Given the description of an element on the screen output the (x, y) to click on. 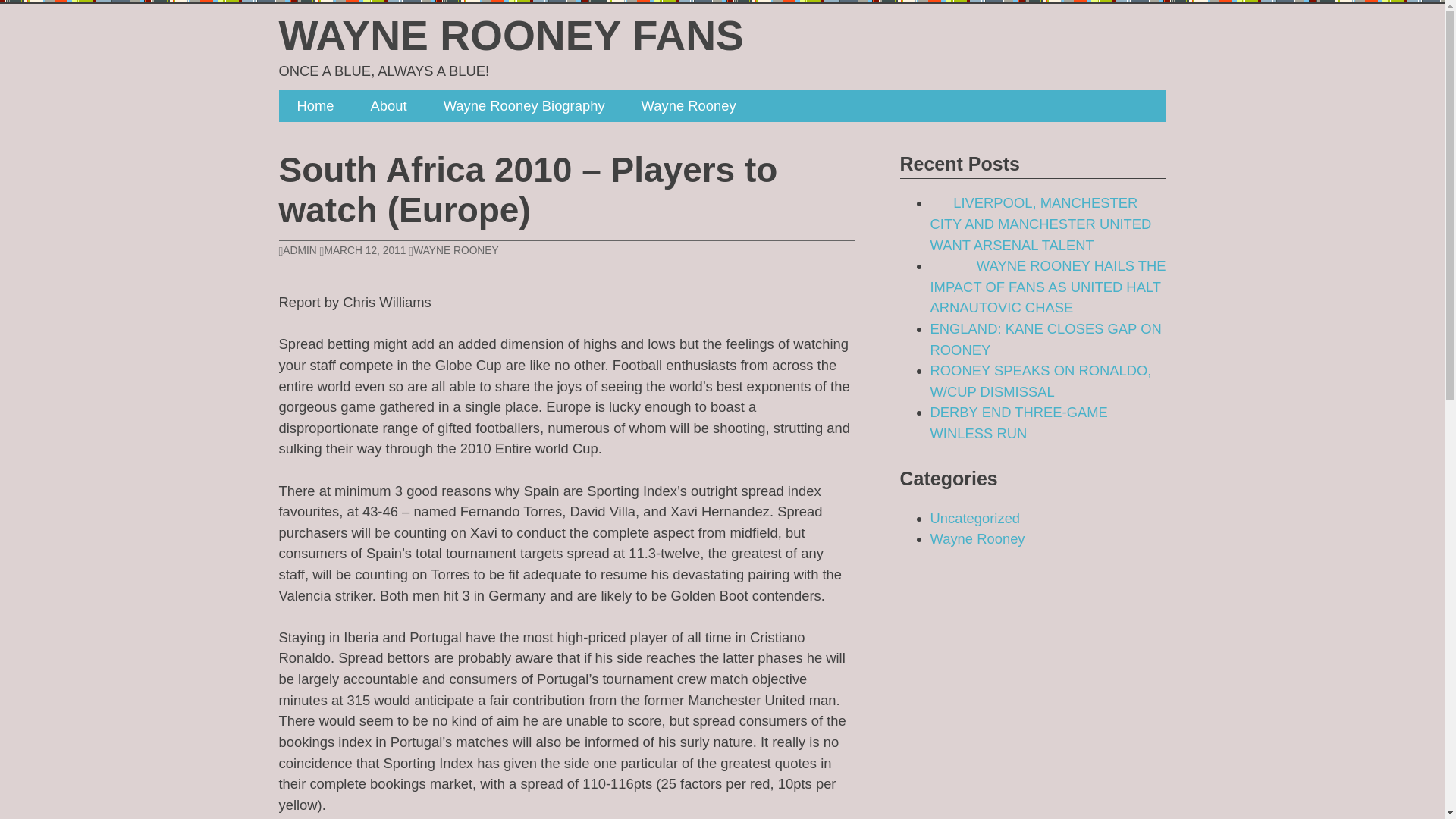
Wayne Rooney (977, 538)
Wayne Rooney (688, 106)
About (388, 106)
WAYNE ROONEY (455, 250)
DERBY END THREE-GAME WINLESS RUN (1018, 422)
Uncategorized (975, 518)
Home (315, 106)
MARCH 12, 2011 (363, 250)
Wayne Rooney Biography (524, 106)
WAYNE ROONEY FANS (511, 35)
ENGLAND: KANE CLOSES GAP ON ROONEY (1045, 339)
ADMIN (298, 250)
